Given the description of an element on the screen output the (x, y) to click on. 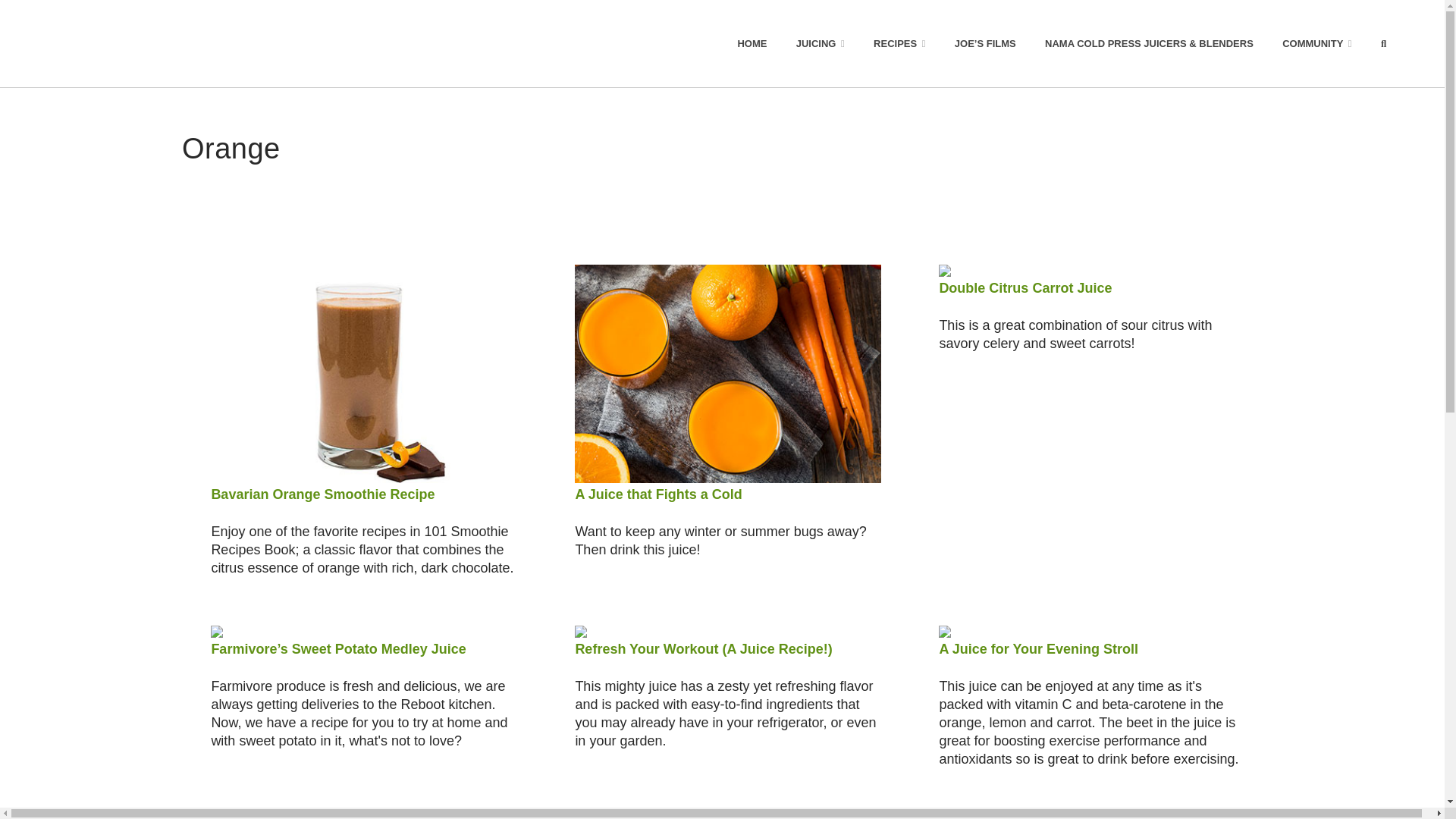
COMMUNITY (1317, 43)
Joe Cross (131, 43)
RECIPES (899, 43)
Bavarian Orange Smoothie Recipe (322, 494)
